Given the description of an element on the screen output the (x, y) to click on. 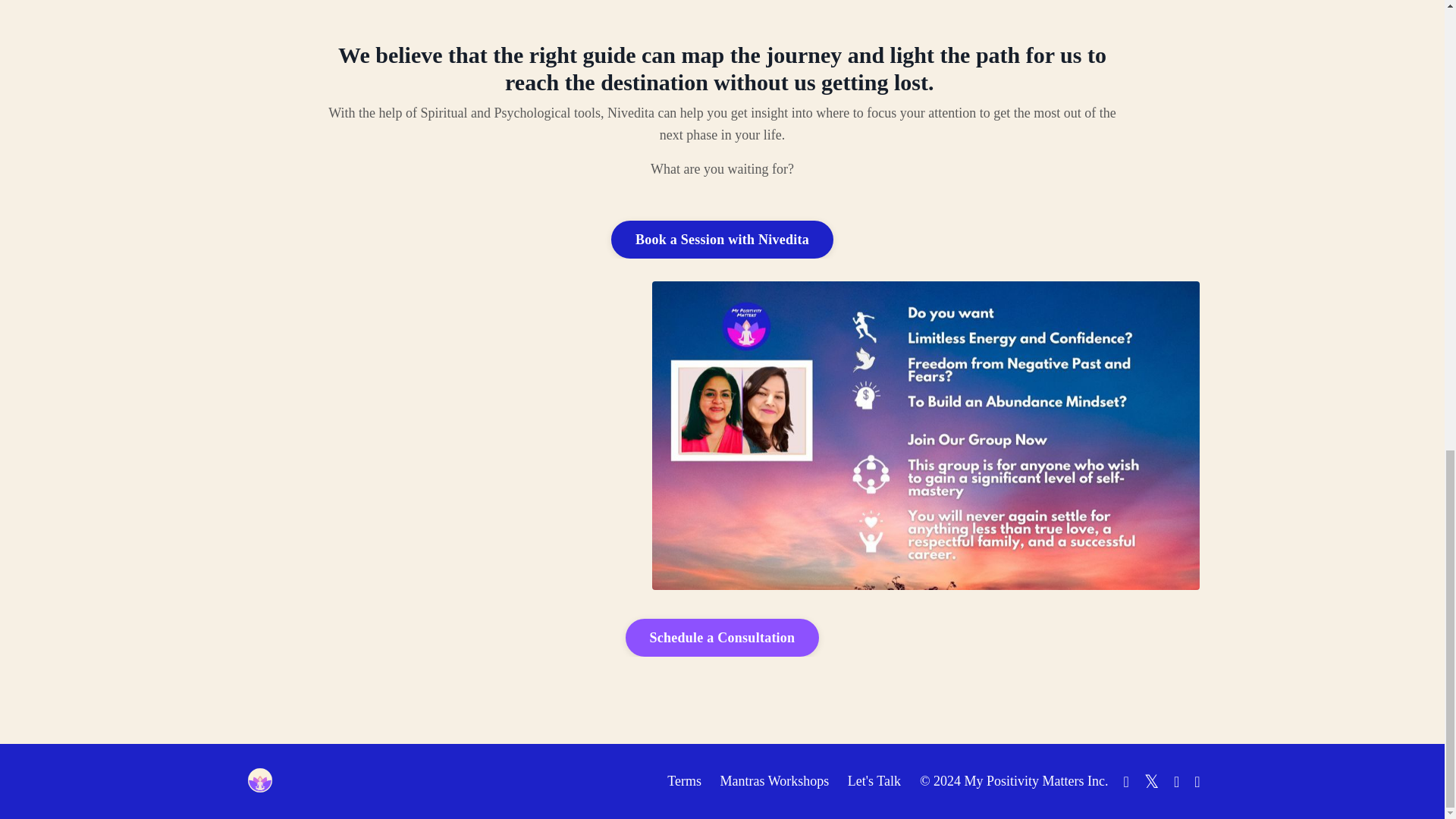
Terms (683, 780)
Mantras Workshops (774, 780)
Schedule a Consultation (722, 637)
Book a Session with Nivedita (721, 239)
Let's Talk (874, 780)
